Given the description of an element on the screen output the (x, y) to click on. 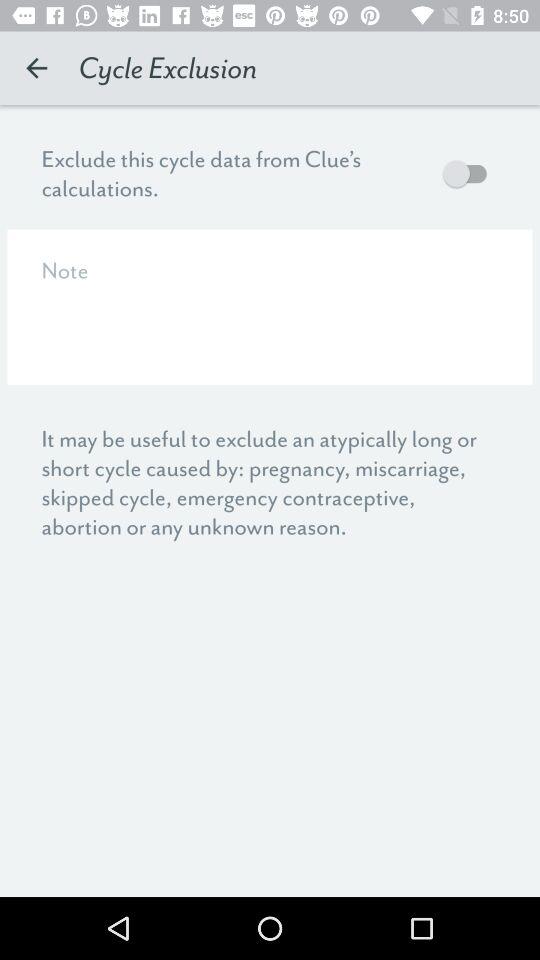
type notes (269, 306)
